Given the description of an element on the screen output the (x, y) to click on. 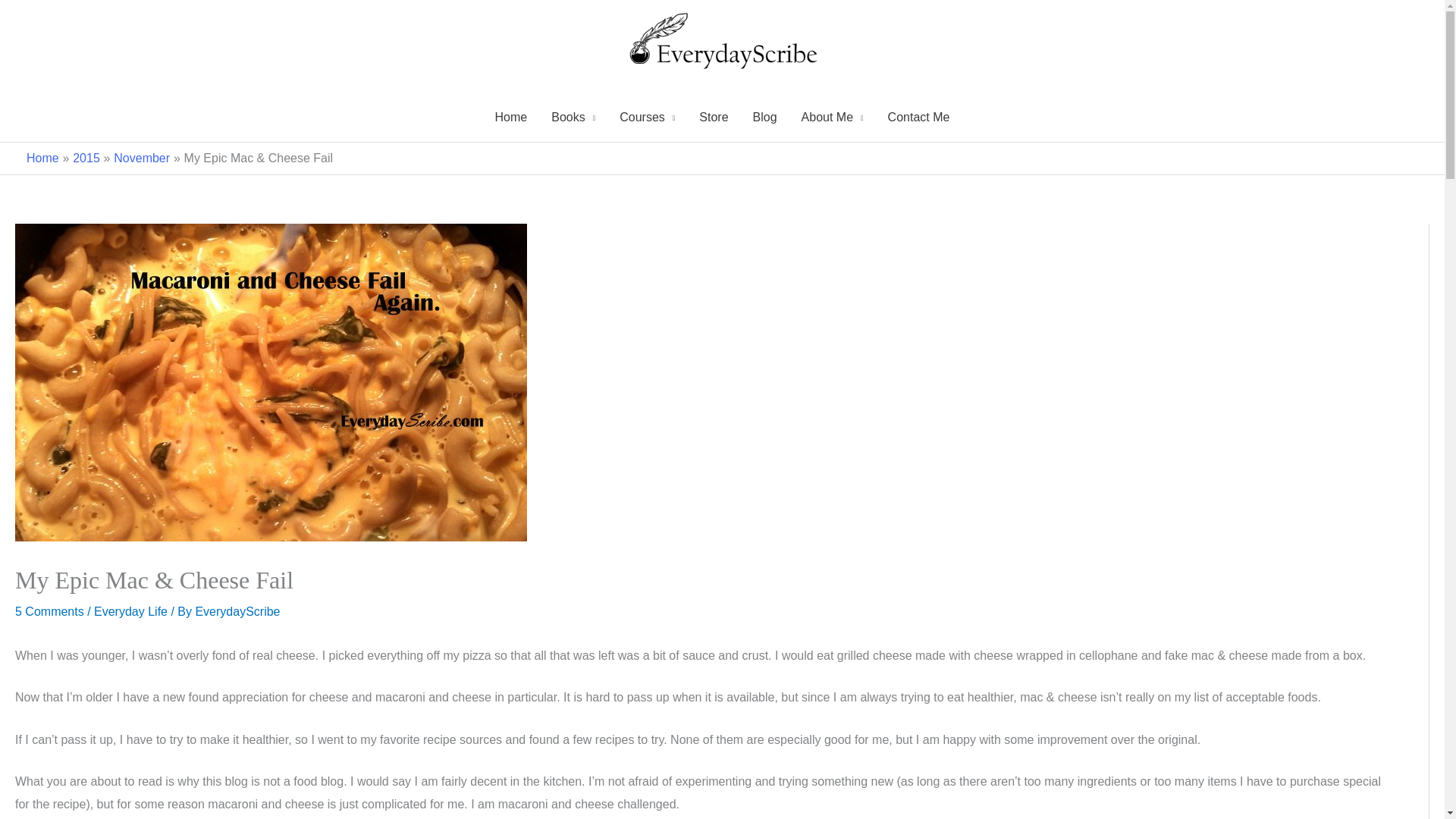
Store (713, 117)
Everyday Life (130, 611)
Books (572, 117)
Blog (765, 117)
Home (42, 157)
EverydayScribe (237, 611)
View all posts by EverydayScribe (237, 611)
Home (511, 117)
2015 (86, 157)
5 Comments (49, 611)
